Given the description of an element on the screen output the (x, y) to click on. 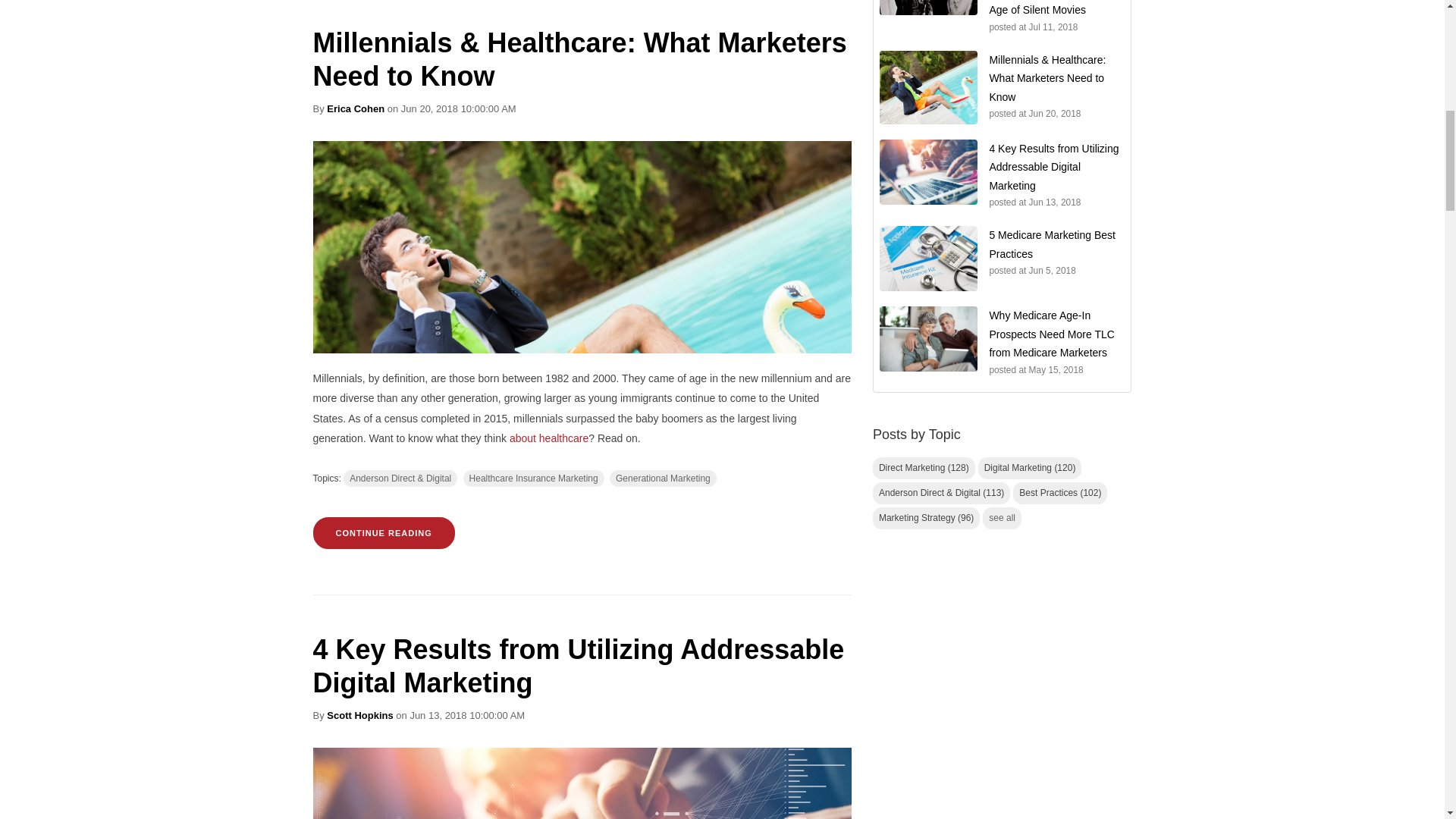
Scott Hopkins (359, 715)
4 Key Results from Utilizing Addressable Digital Marketing (578, 665)
Generational Marketing (663, 478)
Healthcare Insurance Marketing (533, 478)
about healthcare (548, 438)
CONTINUE READING (383, 532)
Erica Cohen (355, 108)
